Given the description of an element on the screen output the (x, y) to click on. 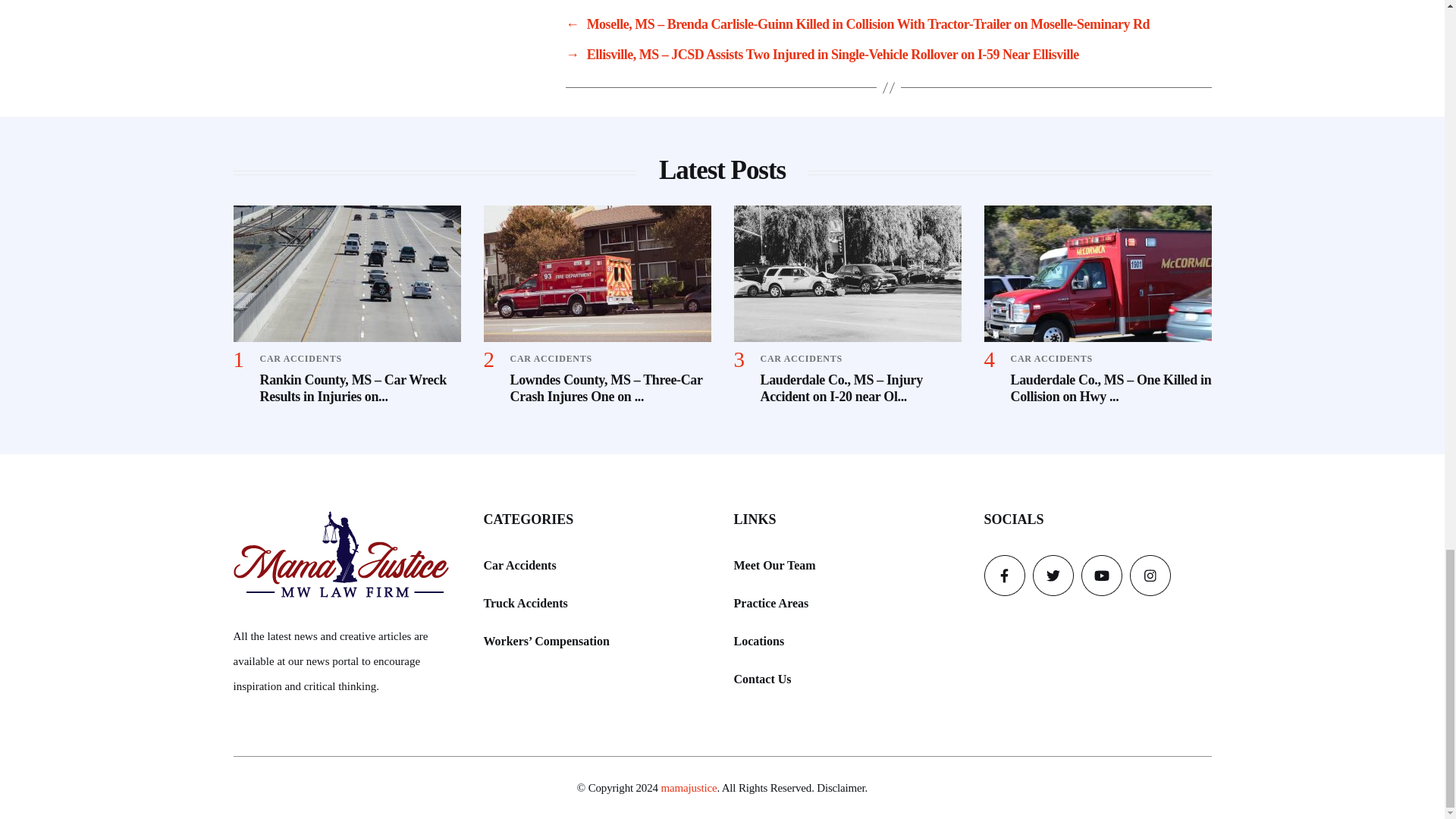
CAR ACCIDENTS (1051, 357)
CAR ACCIDENTS (800, 357)
Car Accidents (519, 565)
CAR ACCIDENTS (299, 357)
Truck Accidents (525, 602)
CAR ACCIDENTS (550, 357)
